Given the description of an element on the screen output the (x, y) to click on. 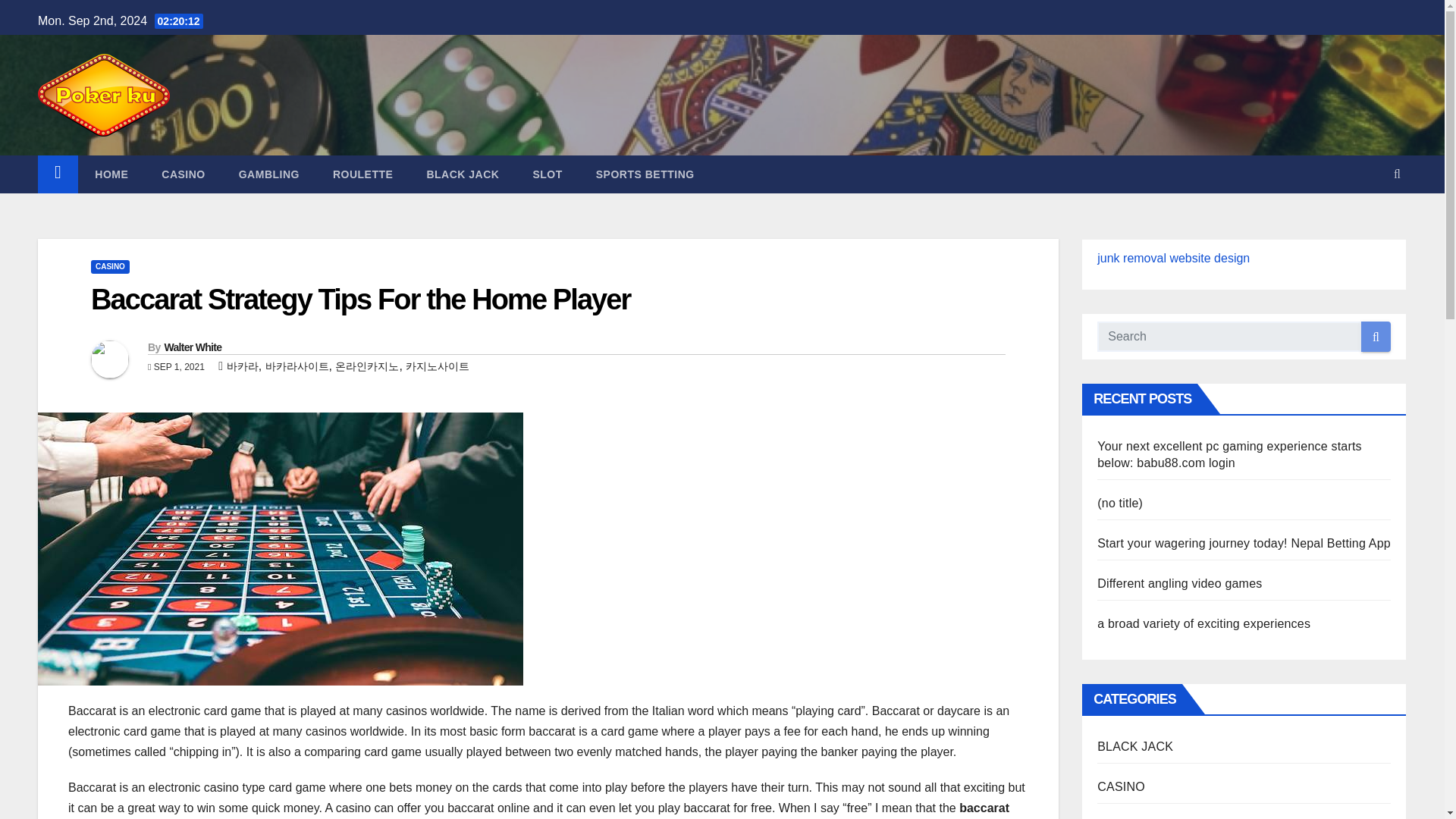
Baccarat Strategy Tips For the Home Player (360, 299)
BLACK JACK (462, 174)
SPORTS BETTING (645, 174)
ROULETTE (362, 174)
HOME (111, 174)
CASINO (182, 174)
CASINO (109, 266)
SPORTS BETTING (645, 174)
SLOT (546, 174)
ROULETTE (362, 174)
